Given the description of an element on the screen output the (x, y) to click on. 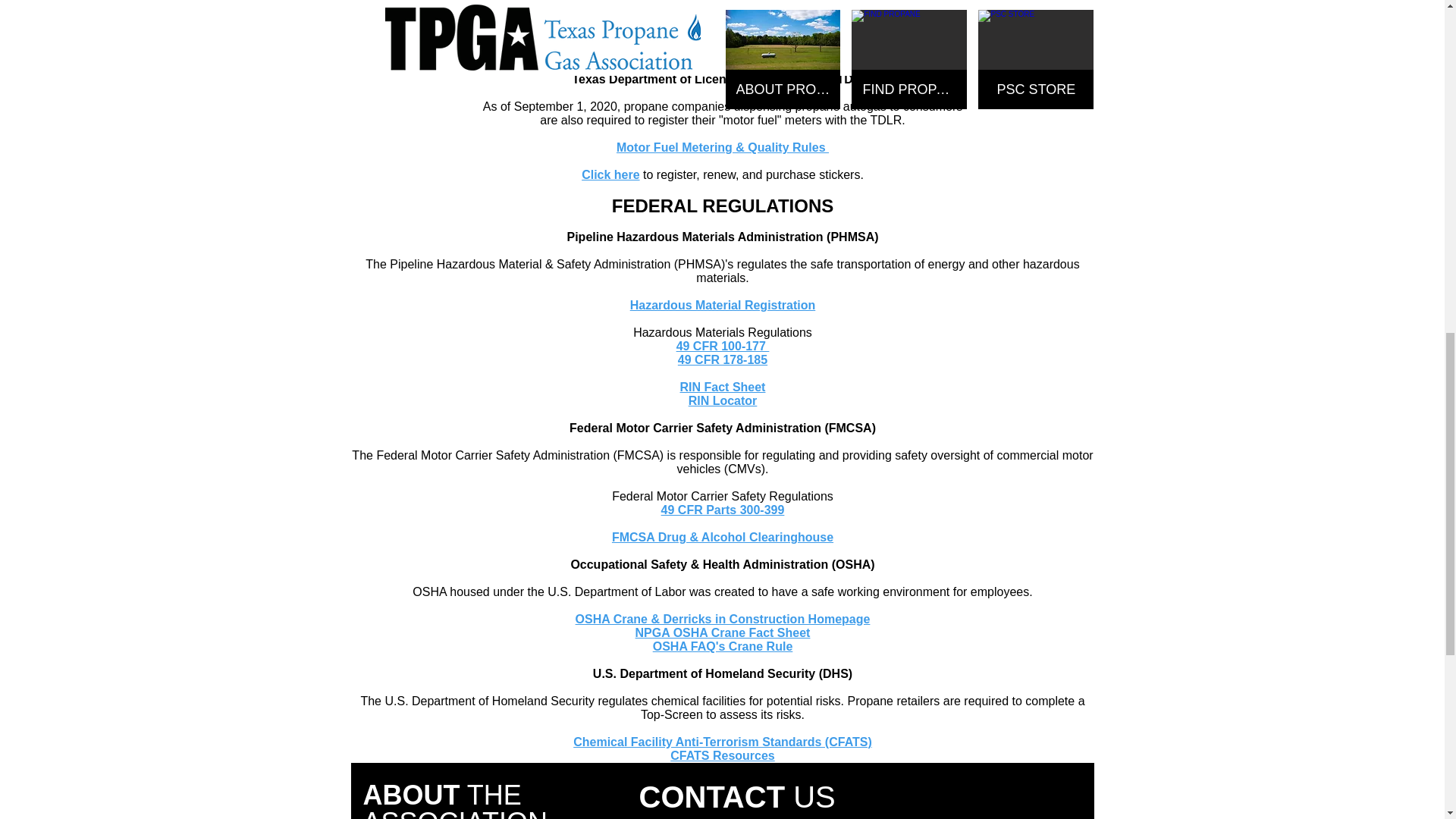
49 CFR 100-177  (723, 345)
Click here (609, 174)
RIN Fact Sheet (722, 386)
Hazardous Material Registration (722, 305)
49 CFR Parts 300-399 (722, 509)
NPGA OSHA Crane Fact Sheet (722, 632)
49 CFR 178-185 (722, 359)
RIN Locator (722, 400)
OSHA FAQ's Crane Rule (722, 645)
CFATS Resources (721, 755)
